Given the description of an element on the screen output the (x, y) to click on. 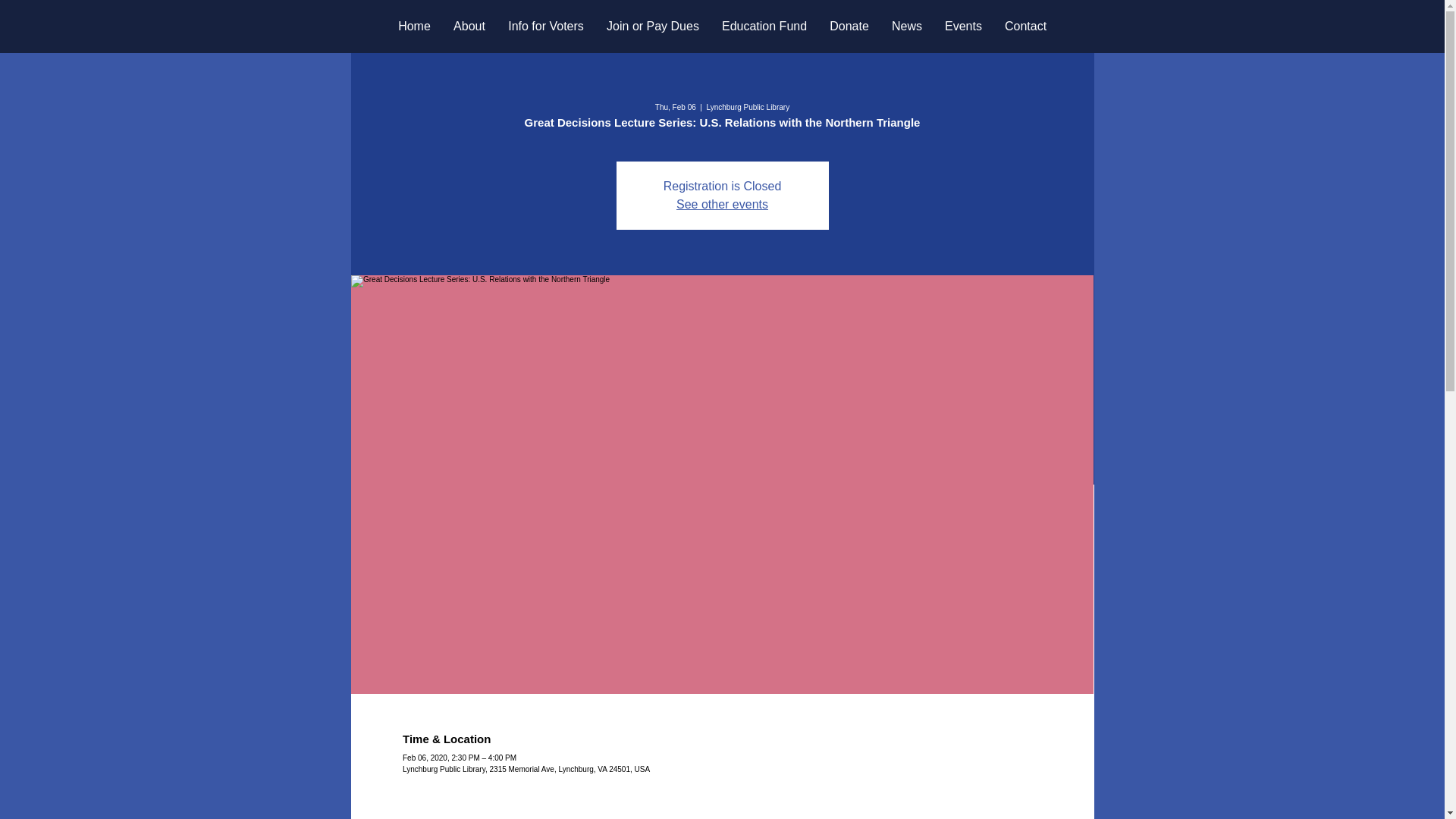
Contact (1025, 26)
Donate (849, 26)
About (469, 26)
Education Fund (764, 26)
Info for Voters (545, 26)
News (906, 26)
Events (962, 26)
See other events (722, 204)
Home (414, 26)
Join or Pay Dues (652, 26)
